Given the description of an element on the screen output the (x, y) to click on. 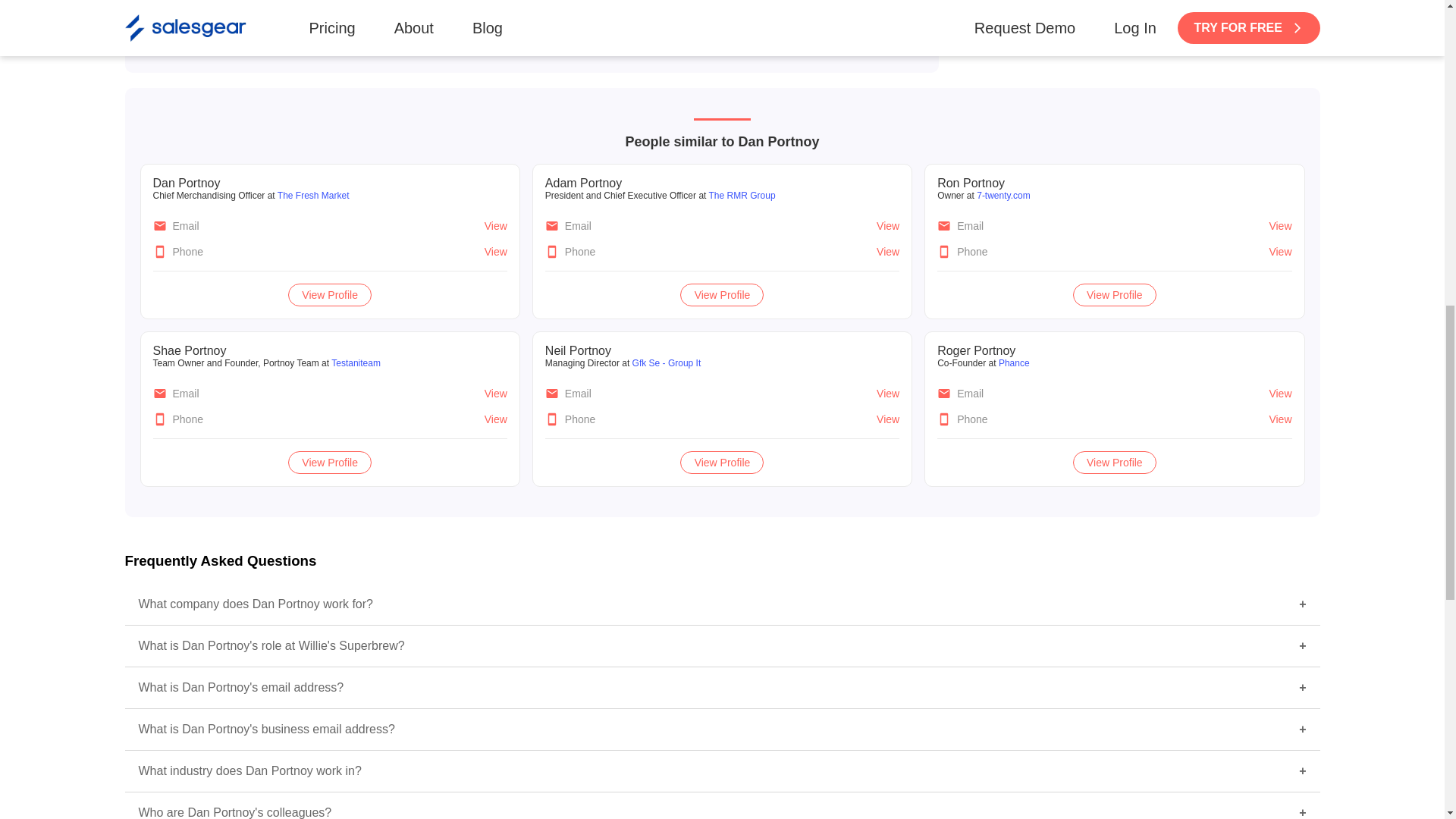
View Profile (329, 462)
View Profile (729, 18)
View Profile (1115, 295)
View Profile (721, 295)
View Profile (333, 18)
View Profile (1115, 462)
View Profile (329, 295)
View Profile (721, 462)
